Given the description of an element on the screen output the (x, y) to click on. 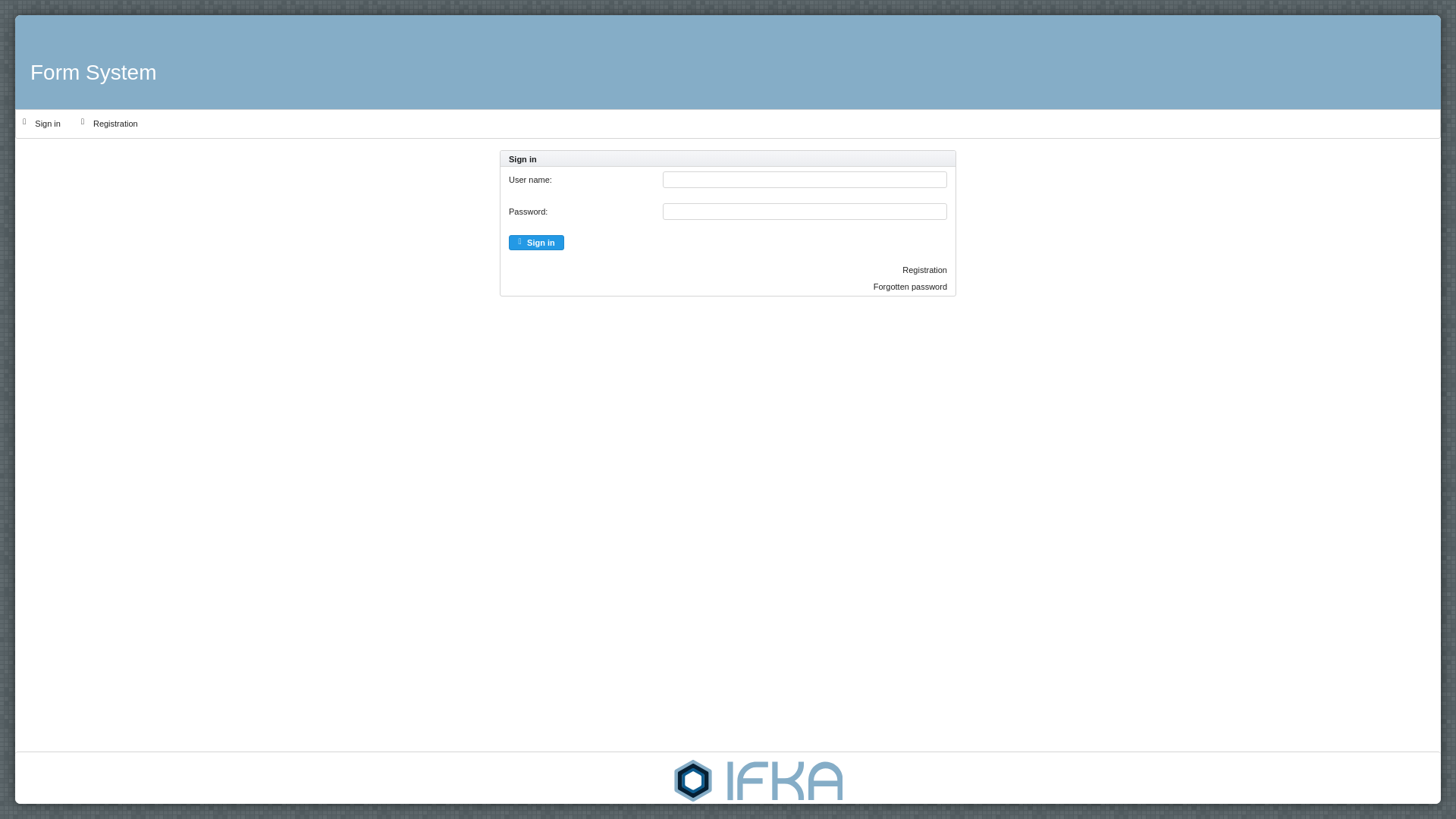
Sign in (41, 123)
Registration (109, 123)
Form System (92, 61)
Registration (924, 269)
Forgotten password (910, 286)
Sign in (536, 242)
